Given the description of an element on the screen output the (x, y) to click on. 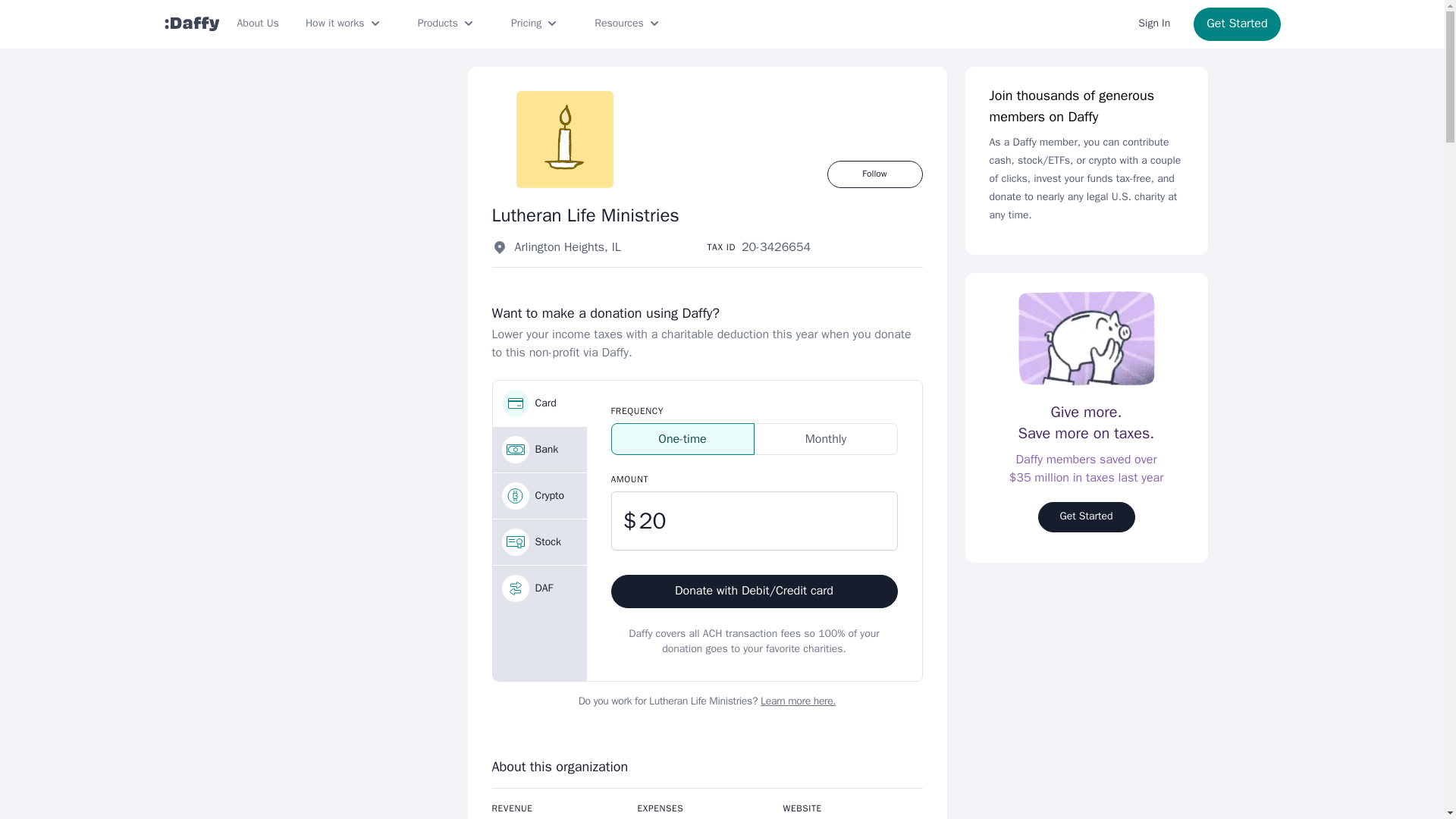
Stock (539, 542)
DAF (539, 587)
Follow (874, 174)
Crypto (539, 495)
Products (446, 24)
About Us (256, 23)
One-time (682, 439)
20 (754, 520)
Sign In (1153, 24)
Card (539, 402)
How it works (344, 24)
Resources (627, 24)
Bank (539, 449)
Learn more here. (797, 700)
Monthly (825, 439)
